Given the description of an element on the screen output the (x, y) to click on. 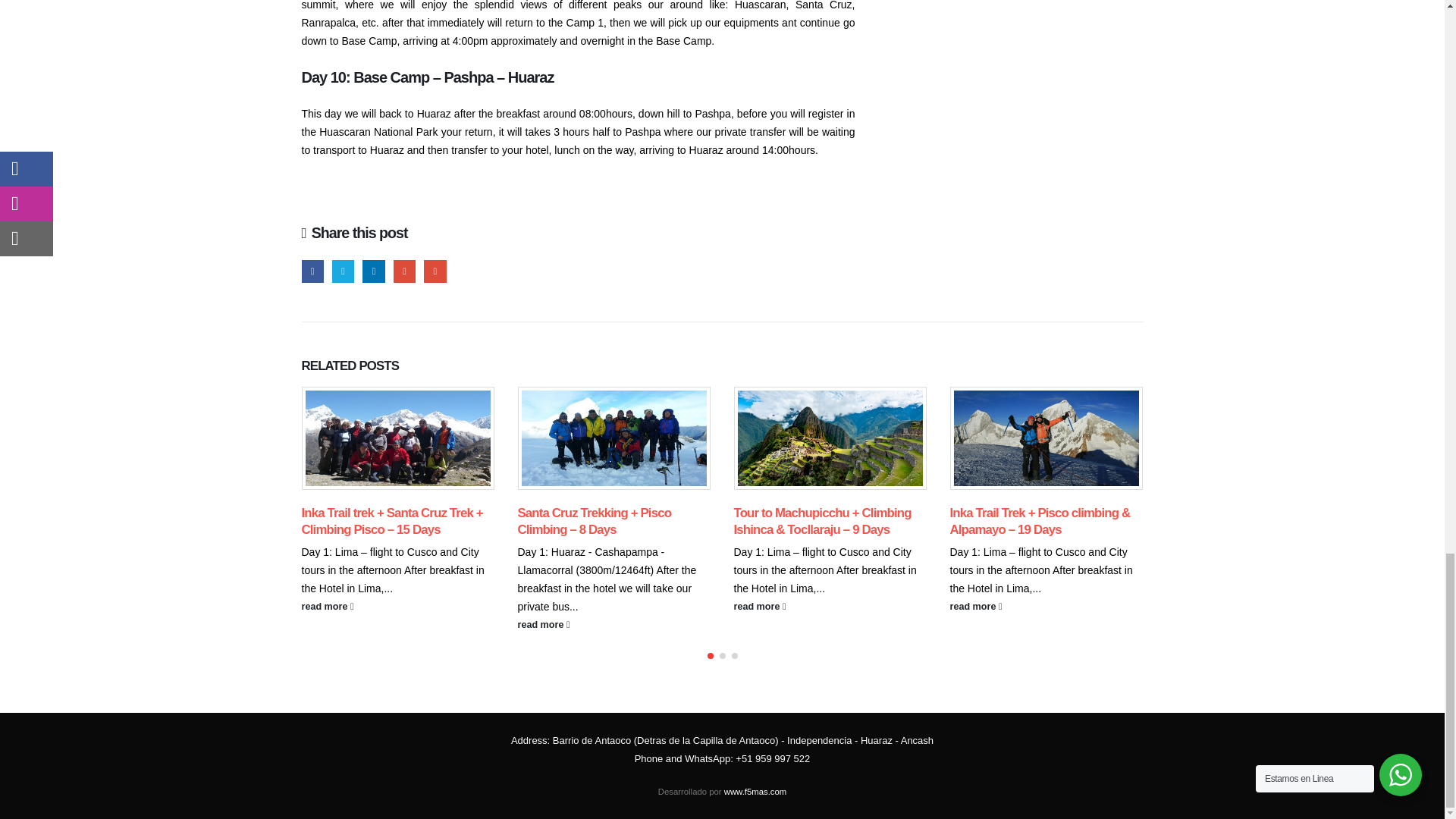
Facebook (312, 270)
LinkedIn (373, 270)
Email (434, 270)
Twitter (342, 270)
